Given the description of an element on the screen output the (x, y) to click on. 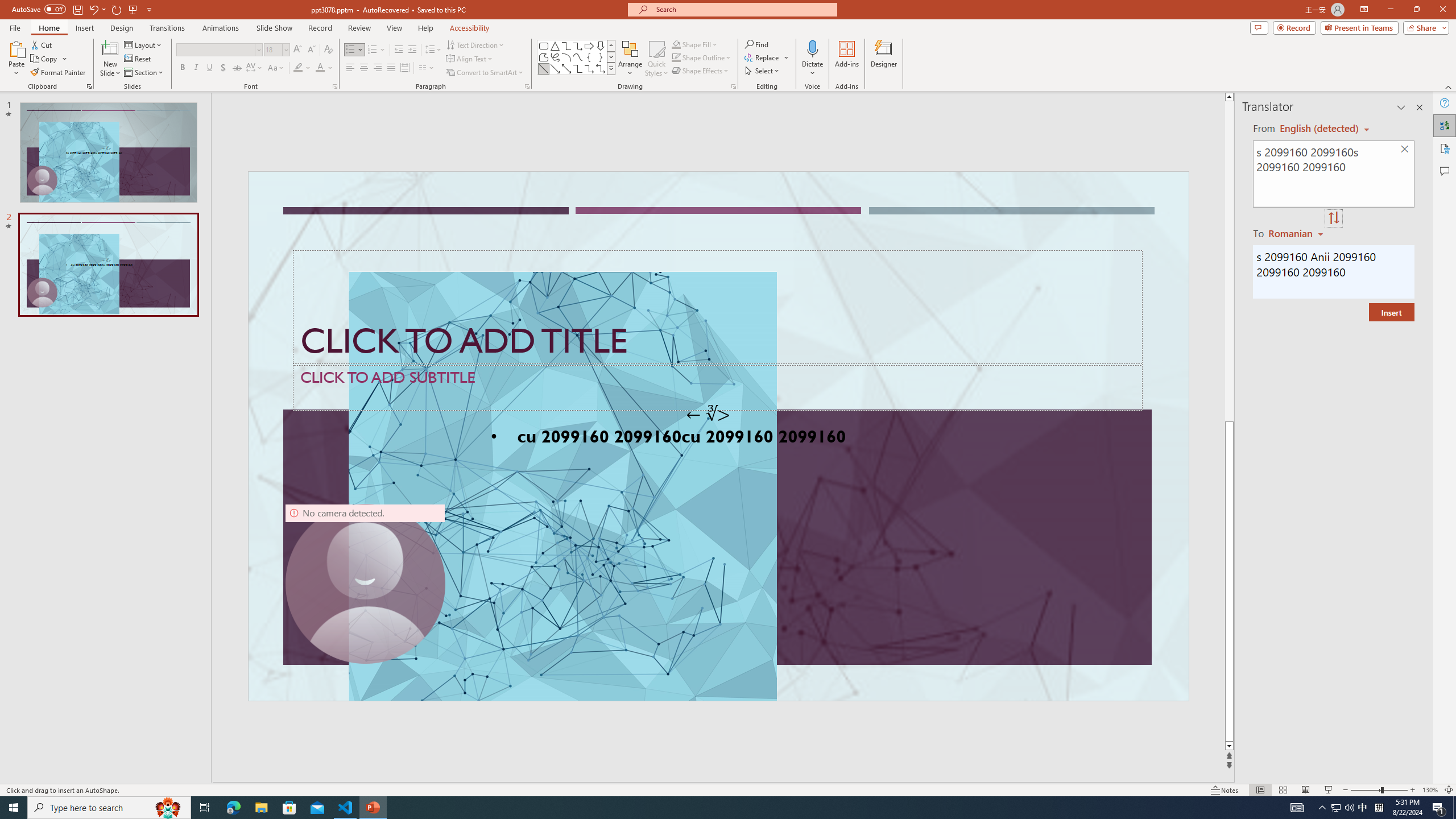
TextBox 61 (716, 438)
